Given the description of an element on the screen output the (x, y) to click on. 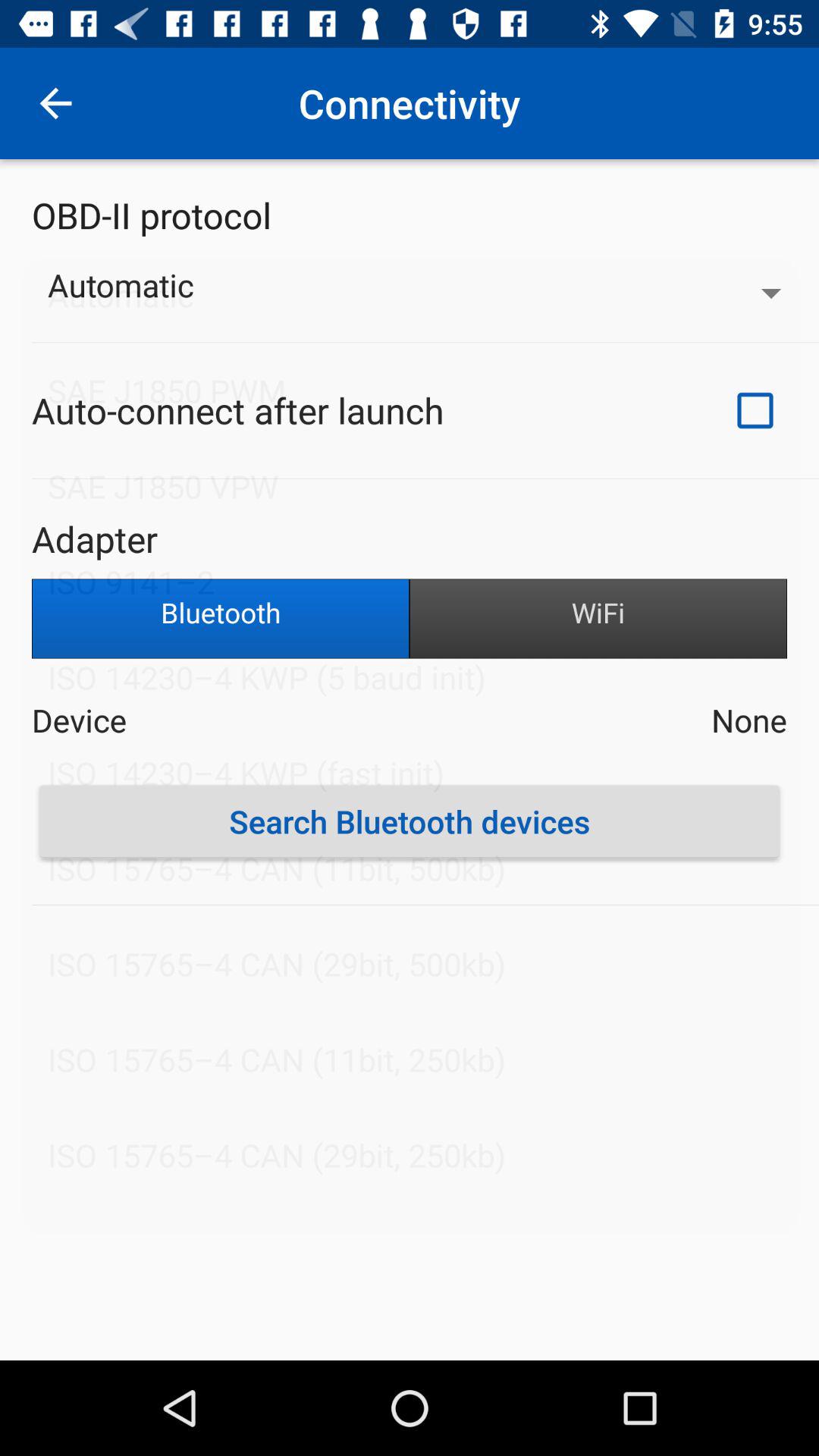
flip until wifi icon (598, 618)
